Given the description of an element on the screen output the (x, y) to click on. 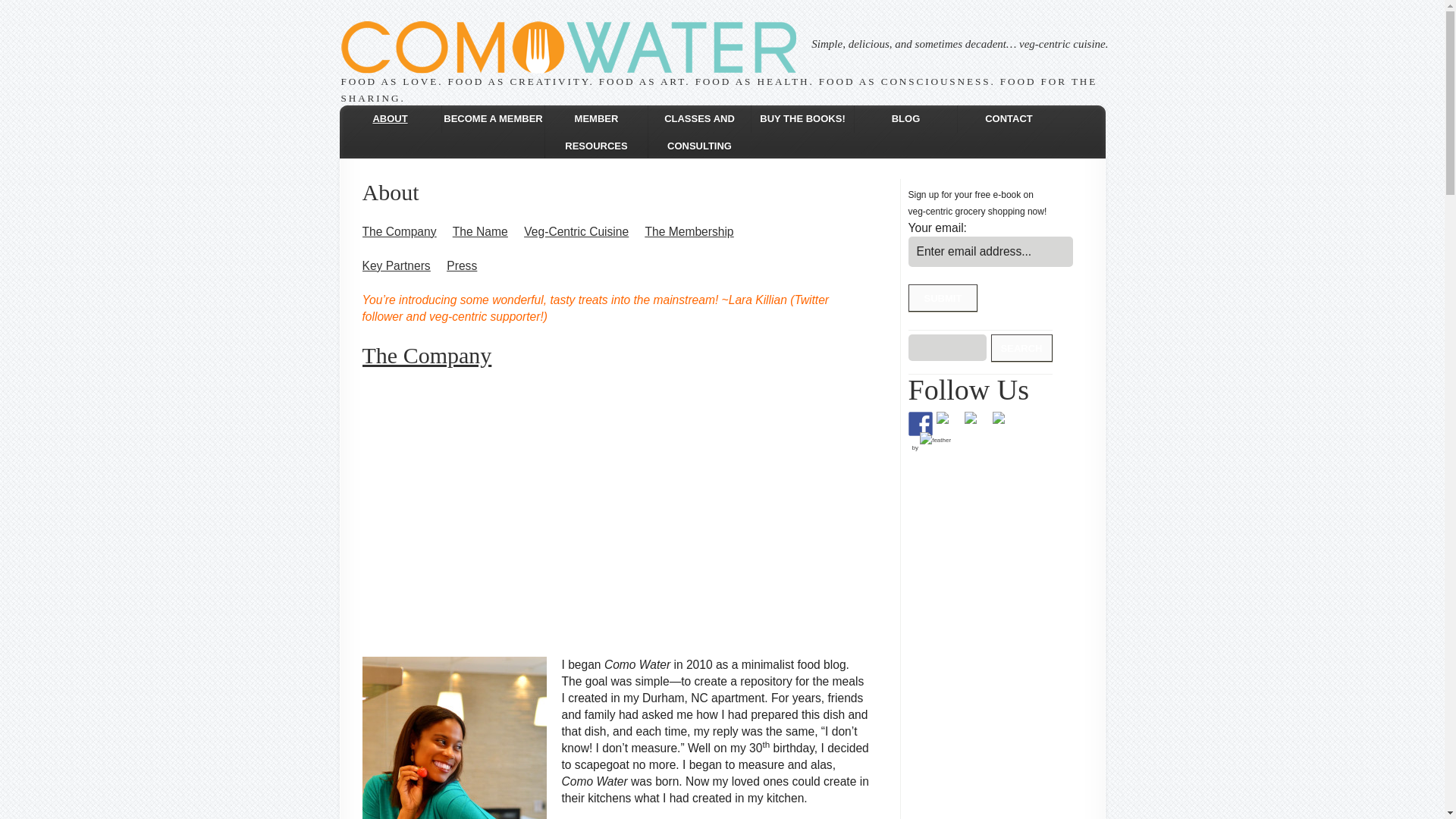
BECOME A MEMBER (493, 118)
Our board on Pinterest (975, 423)
Follow us on Twitter (947, 423)
Search (1021, 347)
CLASSES AND CONSULTING (700, 132)
Submit (943, 298)
Follow us on Facebook (920, 423)
Press (461, 265)
ABOUT (390, 118)
Enter email address... (990, 251)
